Given the description of an element on the screen output the (x, y) to click on. 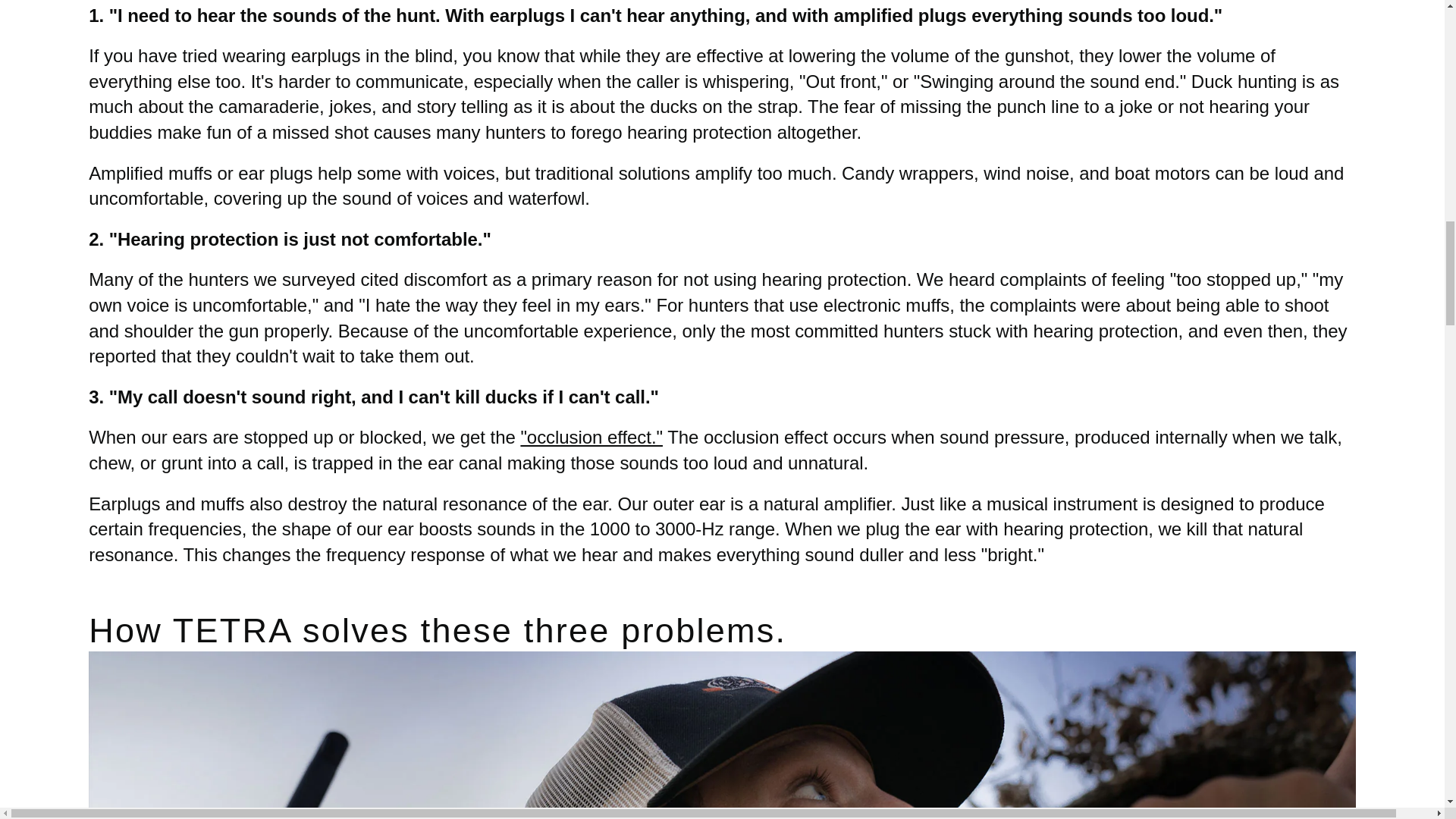
Occlusion effect definition (590, 436)
